Given the description of an element on the screen output the (x, y) to click on. 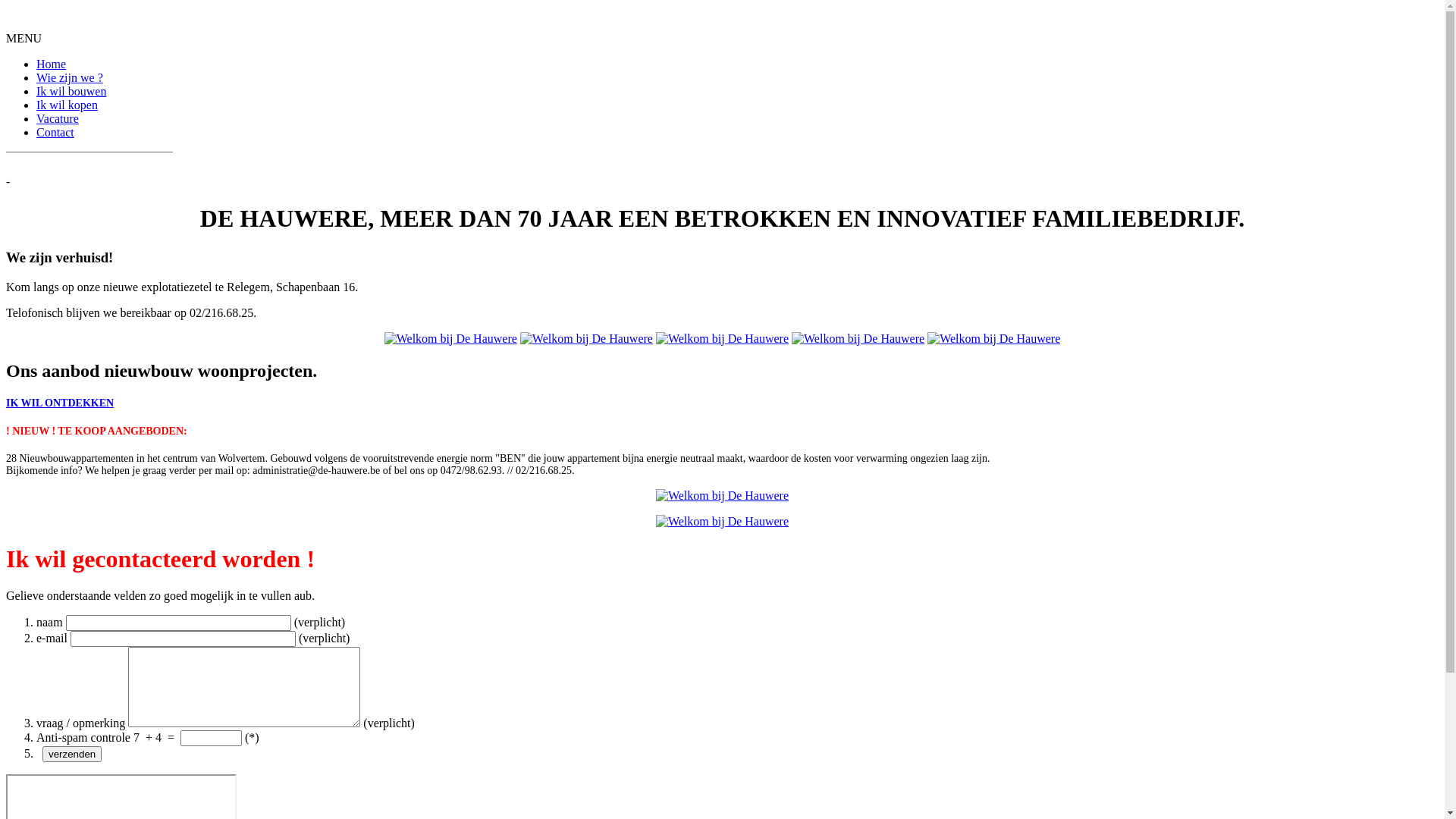
IK WIL ONTDEKKEN Element type: text (59, 402)
Welkom bij De Hauwere Element type: hover (721, 495)
Welkom bij De Hauwere Element type: hover (721, 338)
Welkom bij De Hauwere Element type: hover (857, 338)
Welkom bij De Hauwere Element type: hover (993, 338)
- Element type: text (722, 181)
Welkom bij De Hauwere Element type: hover (450, 338)
Welkom bij De Hauwere Element type: hover (586, 338)
Welkom bij De Hauwere Element type: hover (721, 521)
Welkom bij De Hauwere Element type: hover (721, 338)
Welkom bij De Hauwere Element type: hover (721, 520)
Vacature Element type: text (57, 118)
Wie zijn we ? Element type: text (69, 77)
Welkom bij De Hauwere Element type: hover (721, 495)
Welkom bij De Hauwere Element type: hover (586, 338)
Home Element type: text (50, 63)
verzenden Element type: text (71, 754)
Ik wil bouwen Element type: text (71, 90)
Contact Element type: text (55, 131)
Welkom bij De Hauwere Element type: hover (450, 338)
Welkom bij De Hauwere Element type: hover (993, 338)
Welkom bij De Hauwere Element type: hover (857, 338)
Ik wil kopen Element type: text (66, 104)
